Given the description of an element on the screen output the (x, y) to click on. 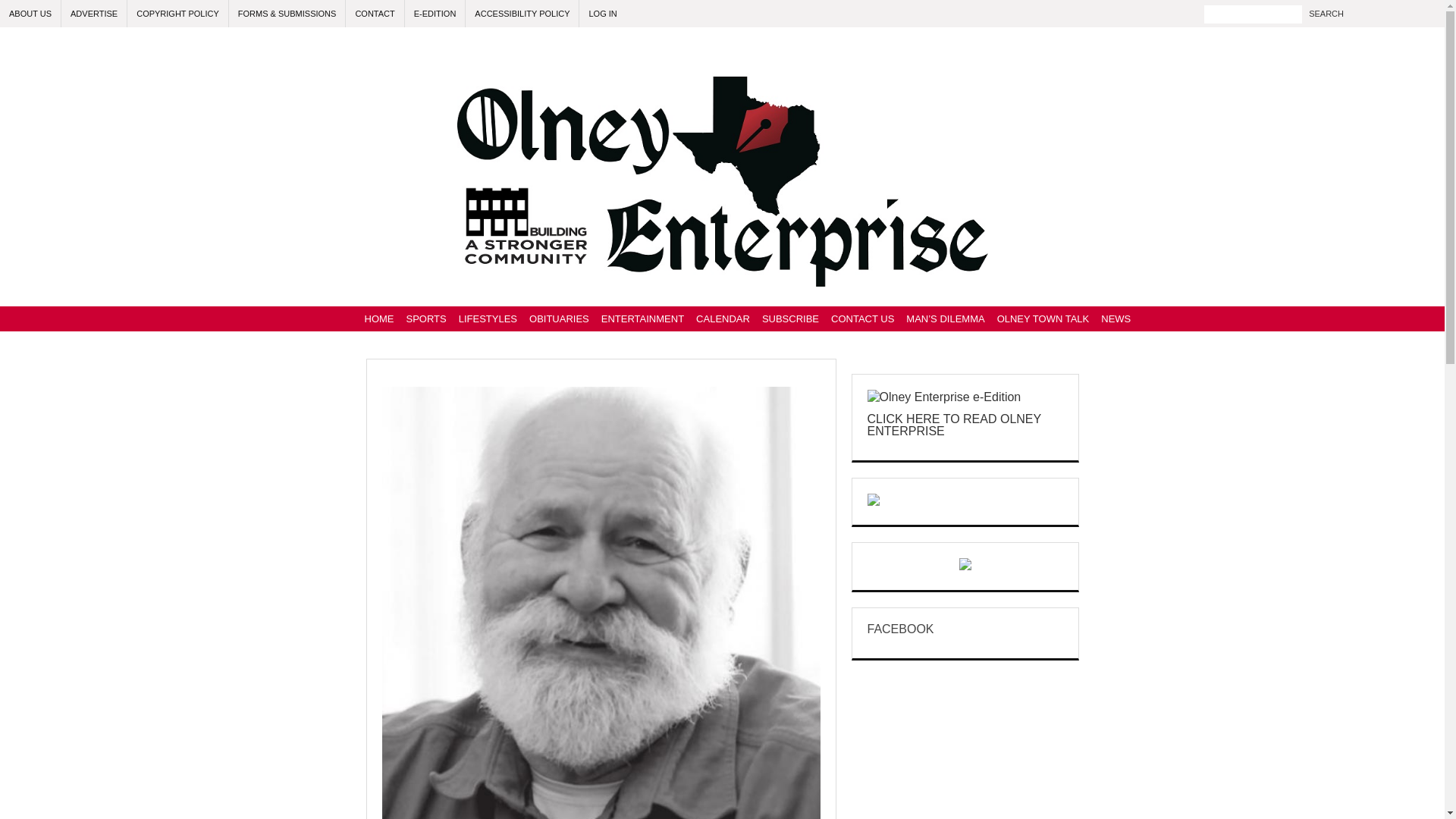
Link to e-Edition. (434, 13)
NEWS (1115, 318)
Search (1326, 13)
CONTACT (375, 13)
Enter the terms you wish to search for. (1252, 13)
HOME (378, 318)
Log In (602, 13)
E-EDITION (434, 13)
ENTERTAINMENT (642, 318)
